Given the description of an element on the screen output the (x, y) to click on. 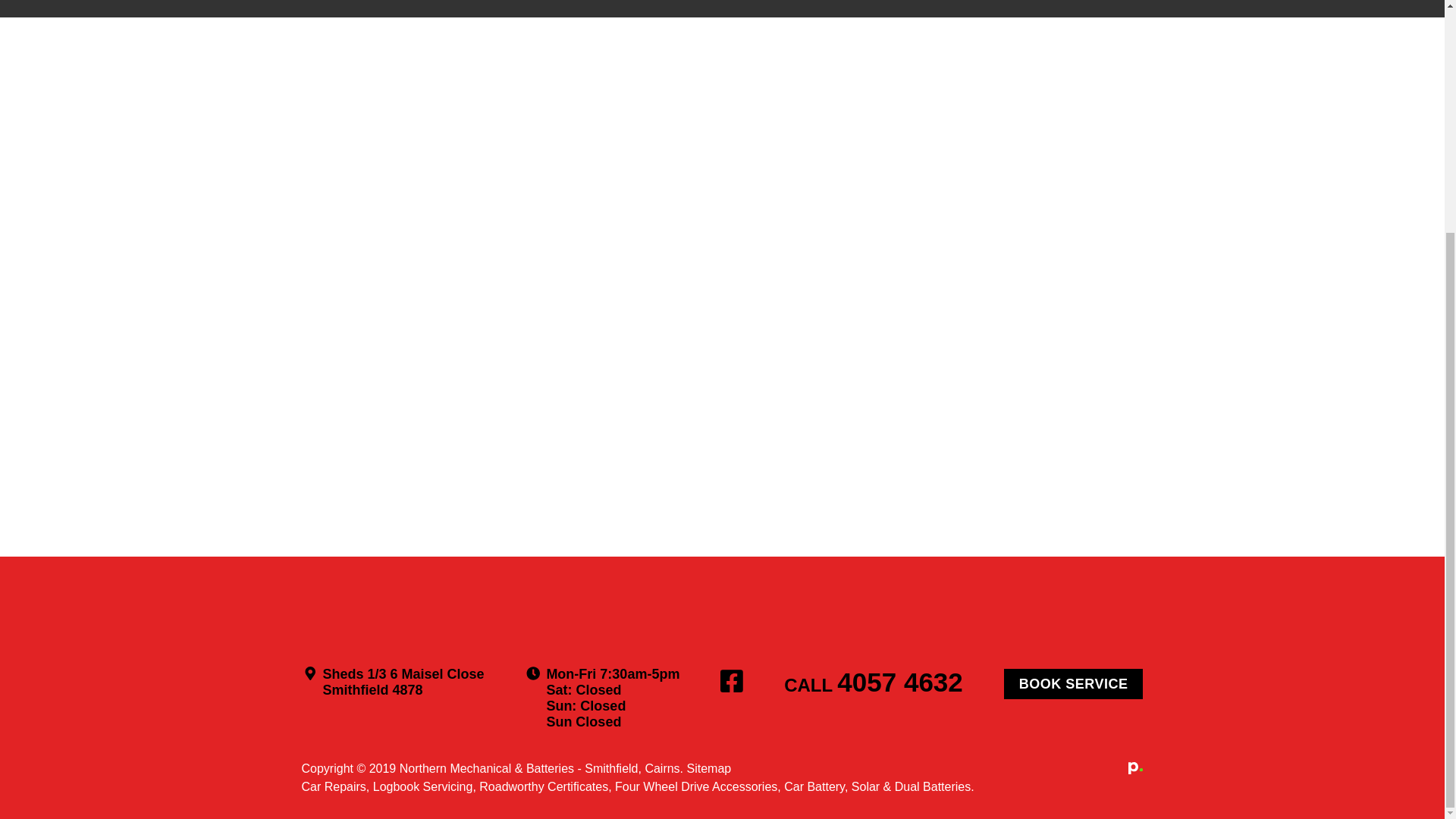
4057 4632 (899, 681)
Sitemap (709, 768)
BOOK SERVICE (1073, 684)
